Given the description of an element on the screen output the (x, y) to click on. 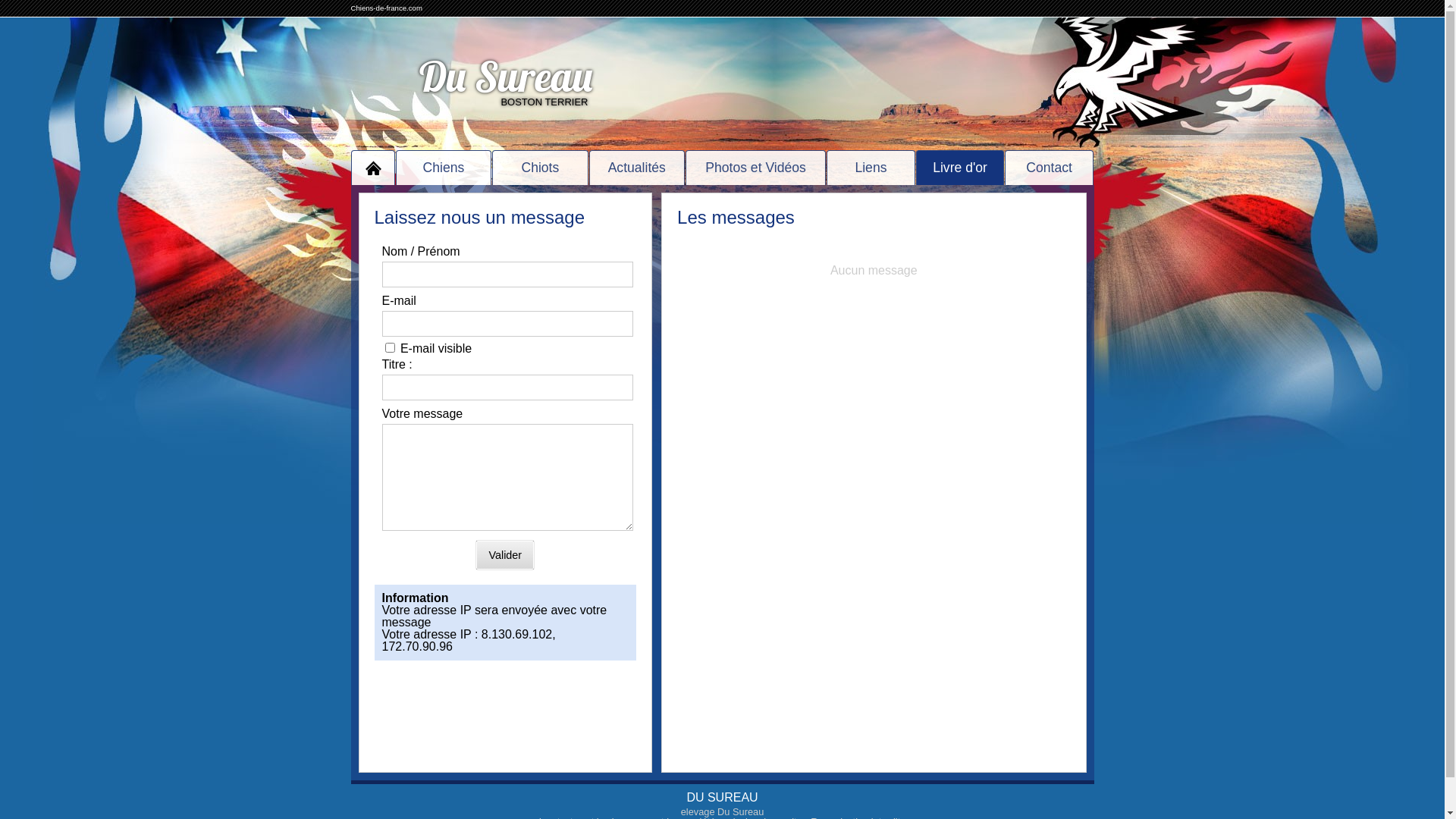
Chiens-de-france.com Element type: text (385, 8)
DU SUREAU Element type: text (721, 796)
Du Sureau Element type: text (504, 76)
Contact Element type: text (1048, 167)
Liens Element type: text (870, 167)
Accueil Element type: hover (373, 167)
Chiens Element type: text (443, 167)
Livre d'or Element type: text (960, 167)
Chiots Element type: text (539, 167)
Valider Element type: text (504, 554)
